Given the description of an element on the screen output the (x, y) to click on. 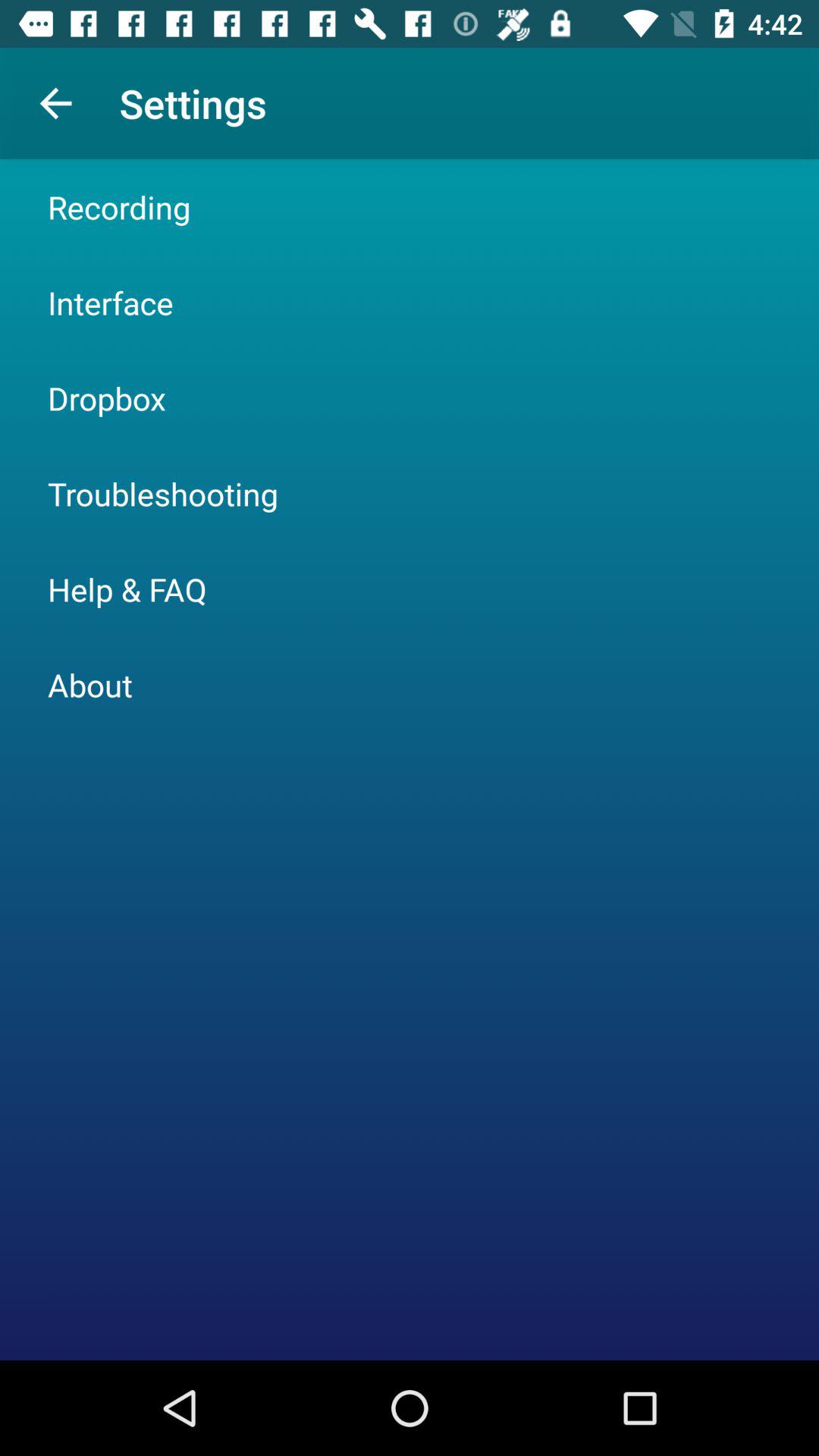
turn off the about item (89, 684)
